Given the description of an element on the screen output the (x, y) to click on. 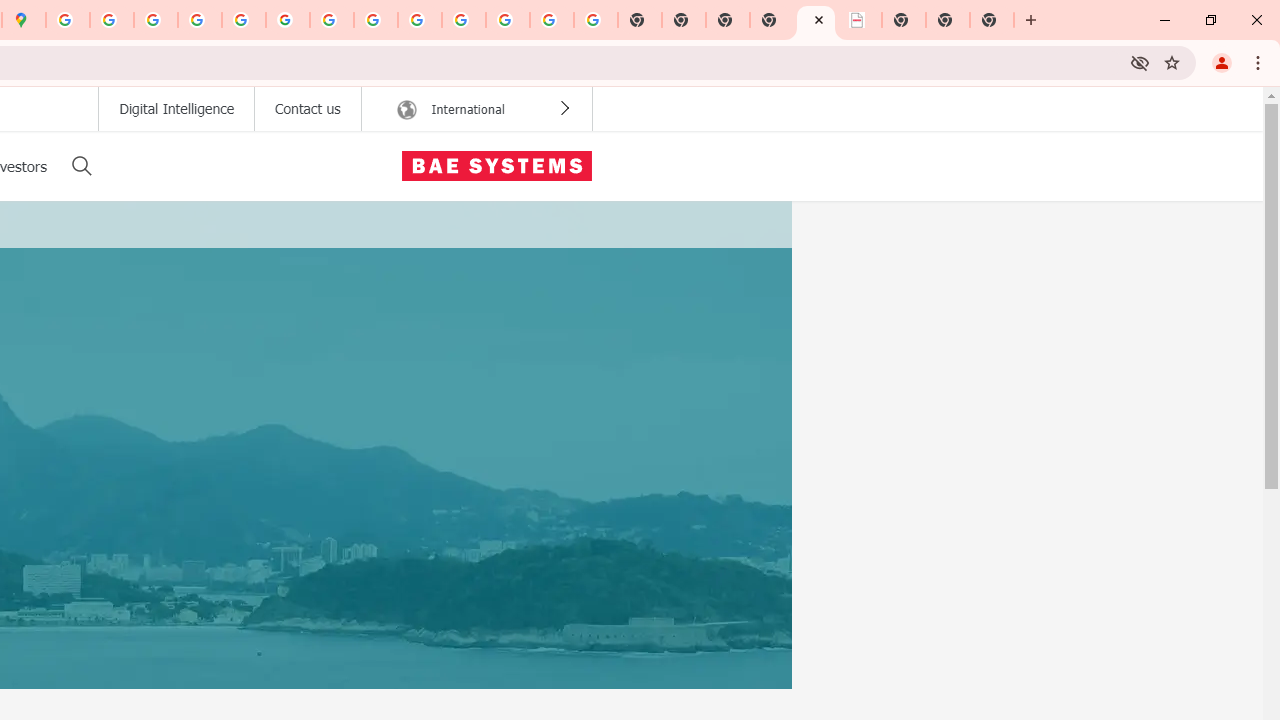
New Tab (991, 20)
AutomationID: region-selector-top (475, 109)
Browse Chrome as a guest - Computer - Google Chrome Help (376, 20)
Contact us (307, 109)
LAAD Defence & Security 2025 | BAE Systems (815, 20)
